Given the description of an element on the screen output the (x, y) to click on. 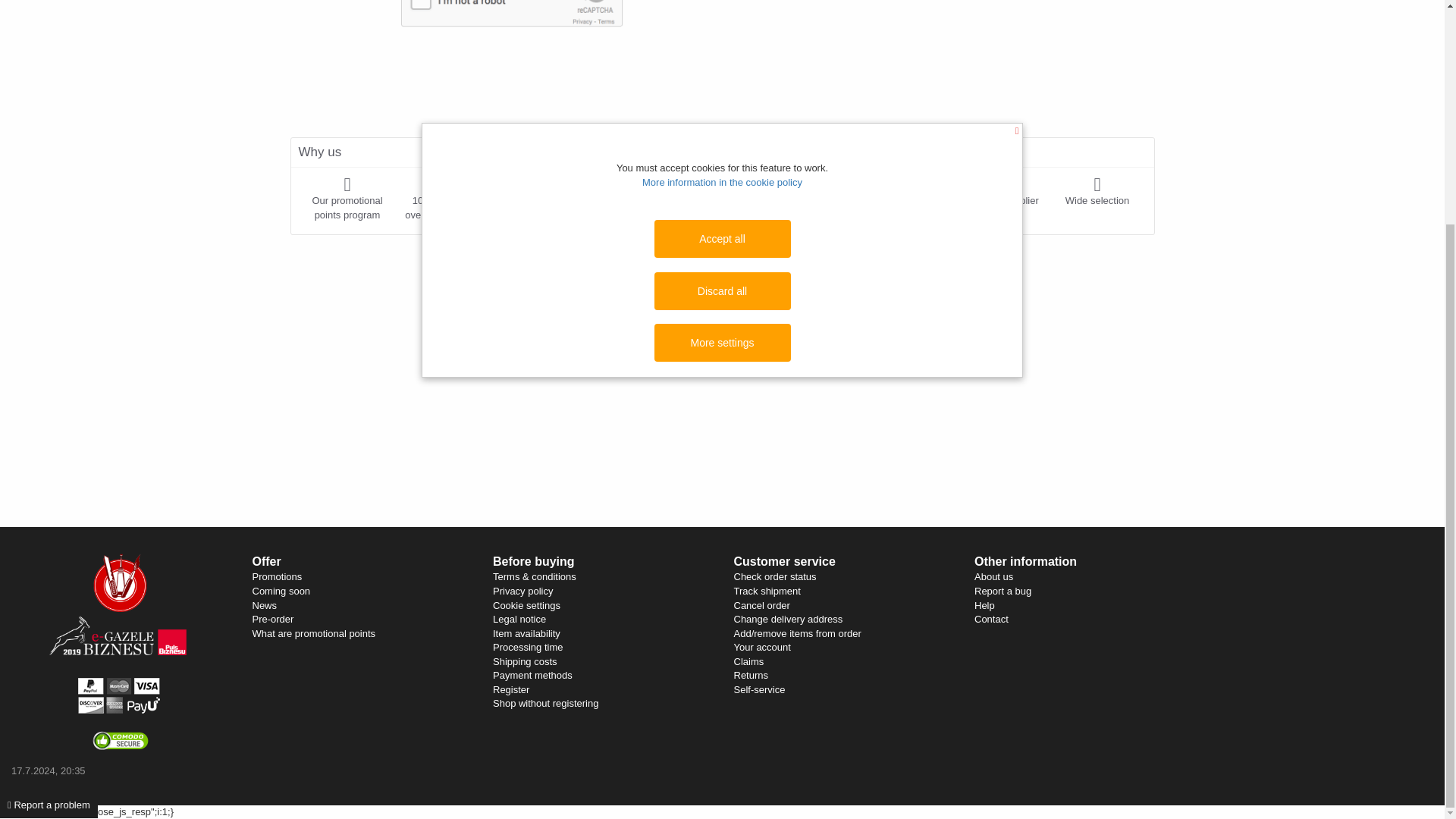
Secure payment through PayU, PayPal, or C.O.D. (628, 198)
We've been around since 2014 - read more about our company (1003, 191)
Report a problem (48, 506)
